Given the description of an element on the screen output the (x, y) to click on. 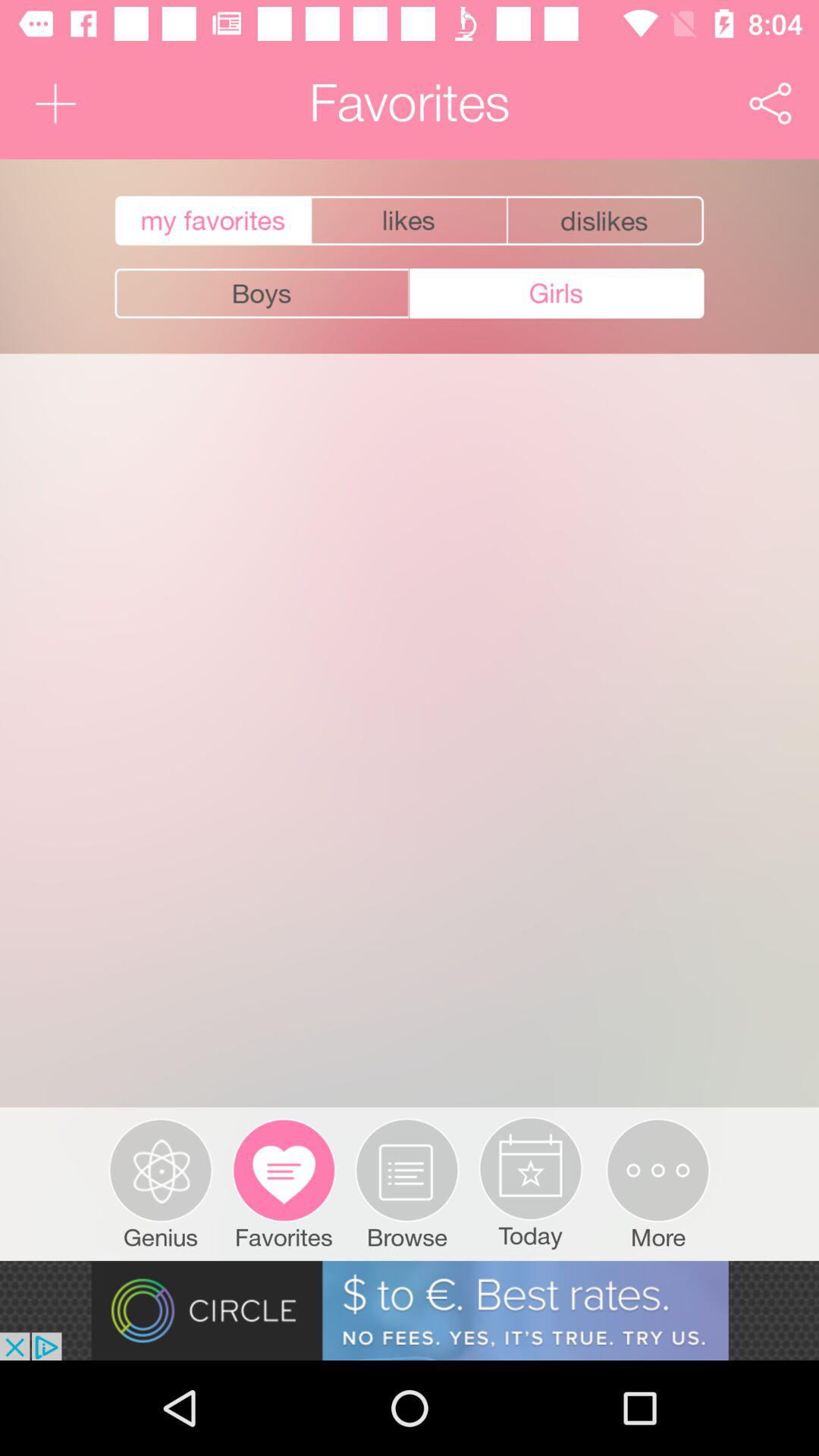
boys button (261, 293)
